Given the description of an element on the screen output the (x, y) to click on. 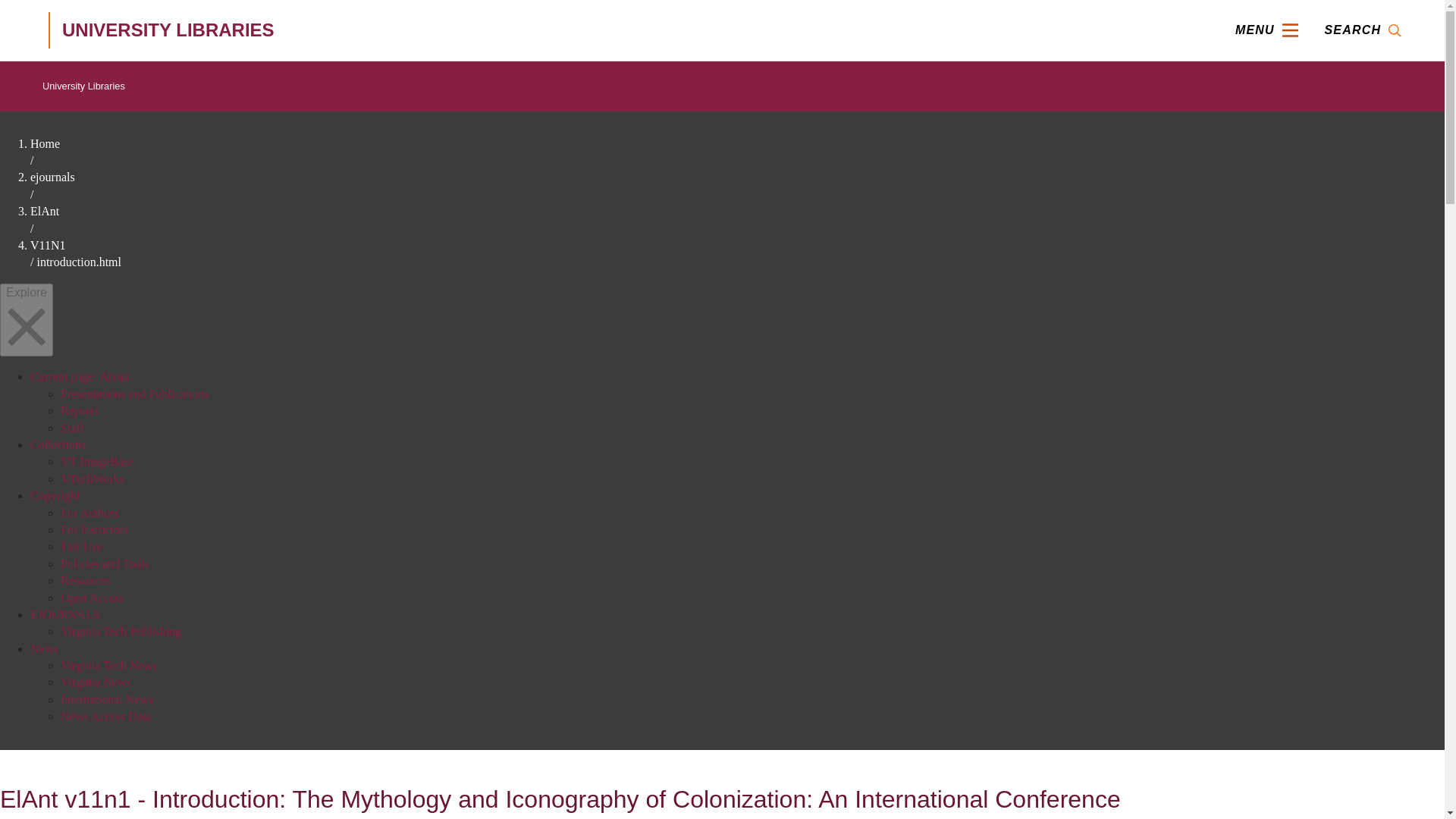
Explore (26, 320)
ejournals (52, 176)
SEARCH (1361, 30)
ElAnt (44, 210)
University Libraries (83, 86)
V11N1 (47, 245)
MENU (1266, 30)
Home (44, 143)
UNIVERSITY LIBRARIES (265, 29)
Current page: About (79, 376)
